Given the description of an element on the screen output the (x, y) to click on. 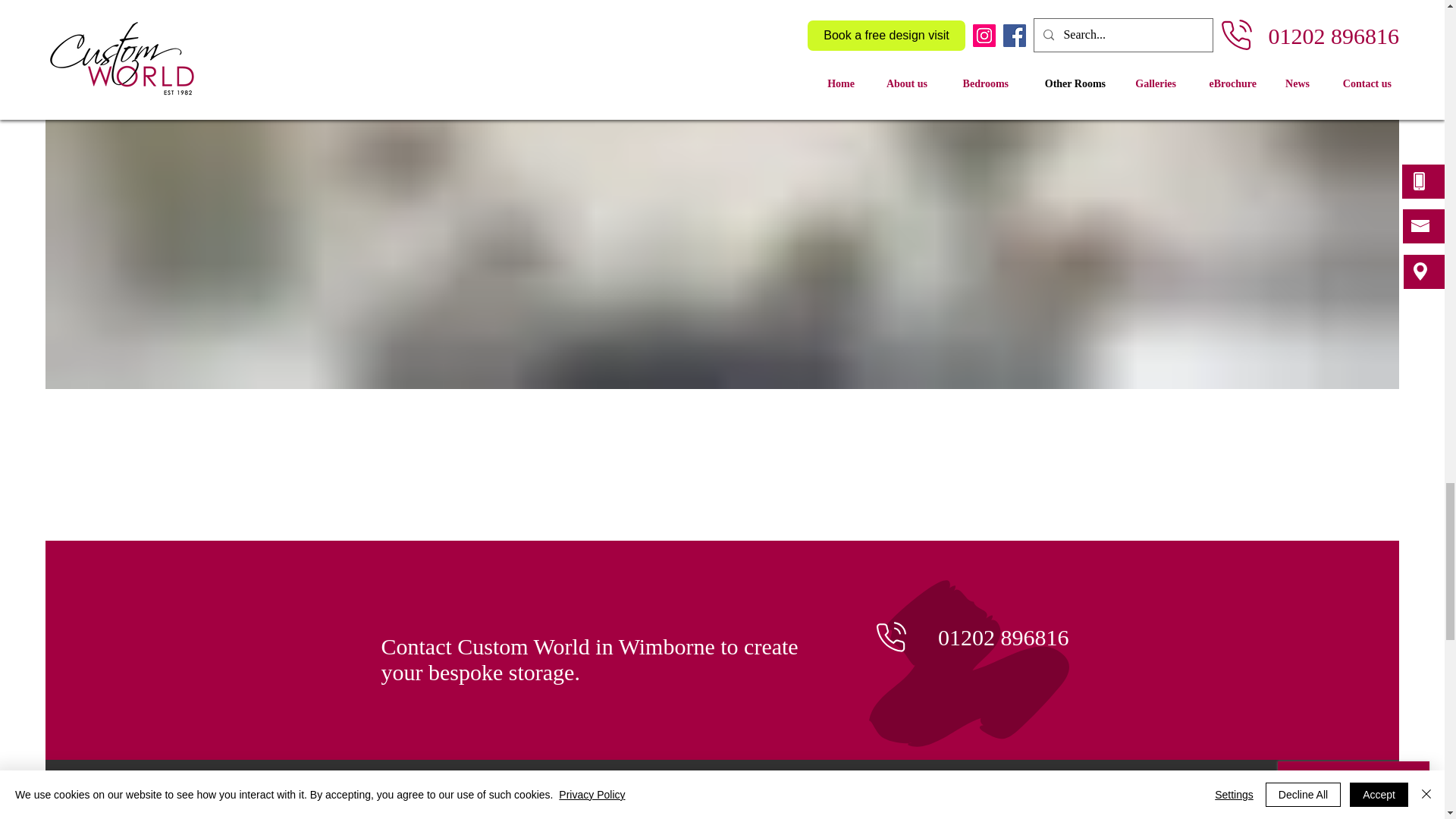
Embedded Content (729, 797)
